Given the description of an element on the screen output the (x, y) to click on. 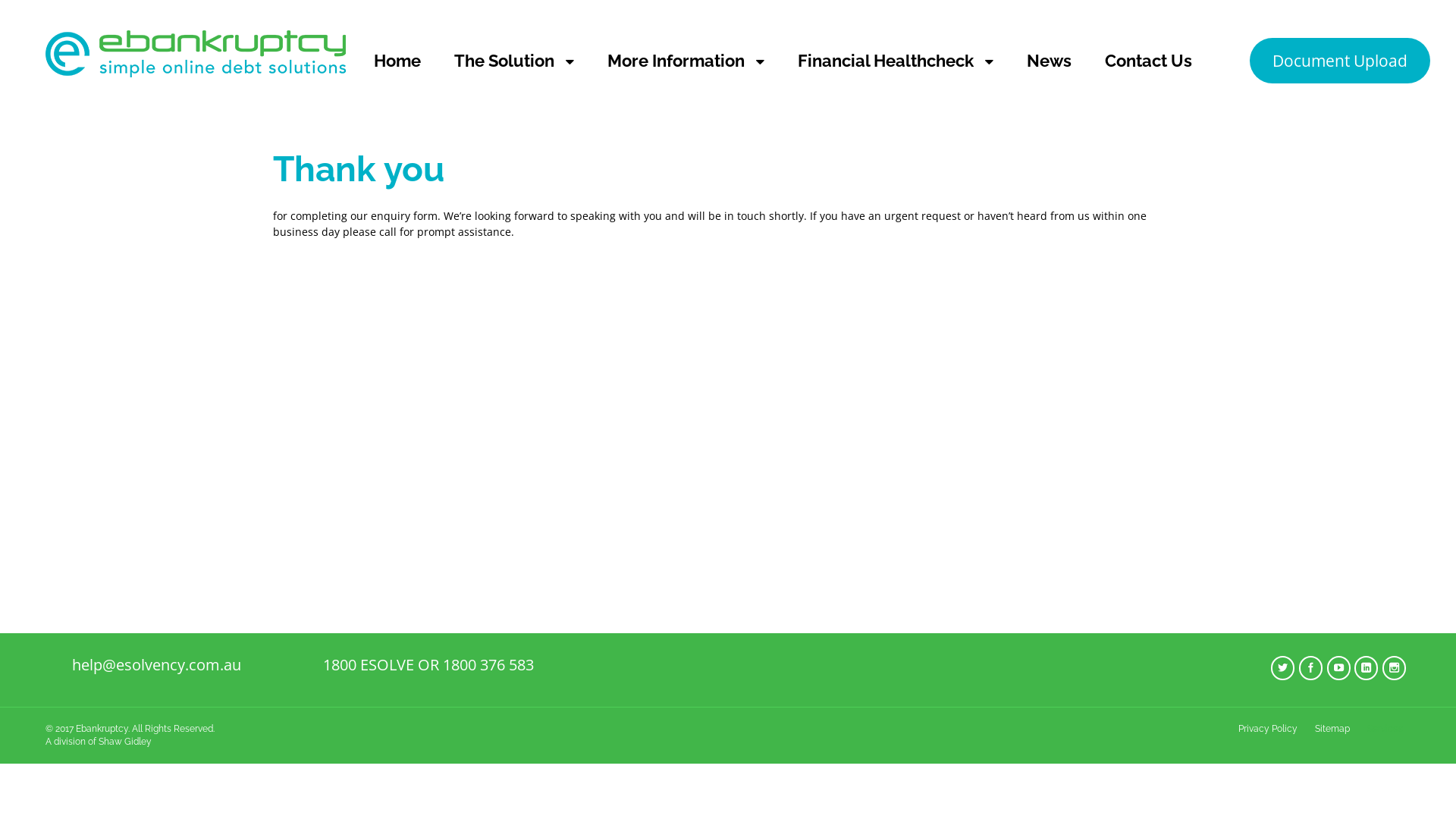
Facebook Element type: hover (1311, 668)
1800 ESOLVE OR 1800 376 583 Element type: text (428, 664)
Twitter Element type: hover (1283, 668)
YouTube Element type: hover (1339, 668)
Services Element type: text (1384, 728)
News Element type: text (1049, 60)
Home Element type: text (397, 60)
More Information Element type: text (685, 60)
help@esolvency.com.au Element type: text (156, 664)
Instagram Element type: hover (1395, 668)
LinkedIn Element type: hover (1367, 668)
Privacy Policy Element type: text (1267, 728)
ebankruptcynet Element type: hover (195, 67)
Financial Healthcheck Element type: text (895, 60)
Sitemap Element type: text (1331, 728)
Document Upload Element type: text (1339, 60)
Contact Us Element type: text (1148, 60)
The Solution Element type: text (513, 60)
